Given the description of an element on the screen output the (x, y) to click on. 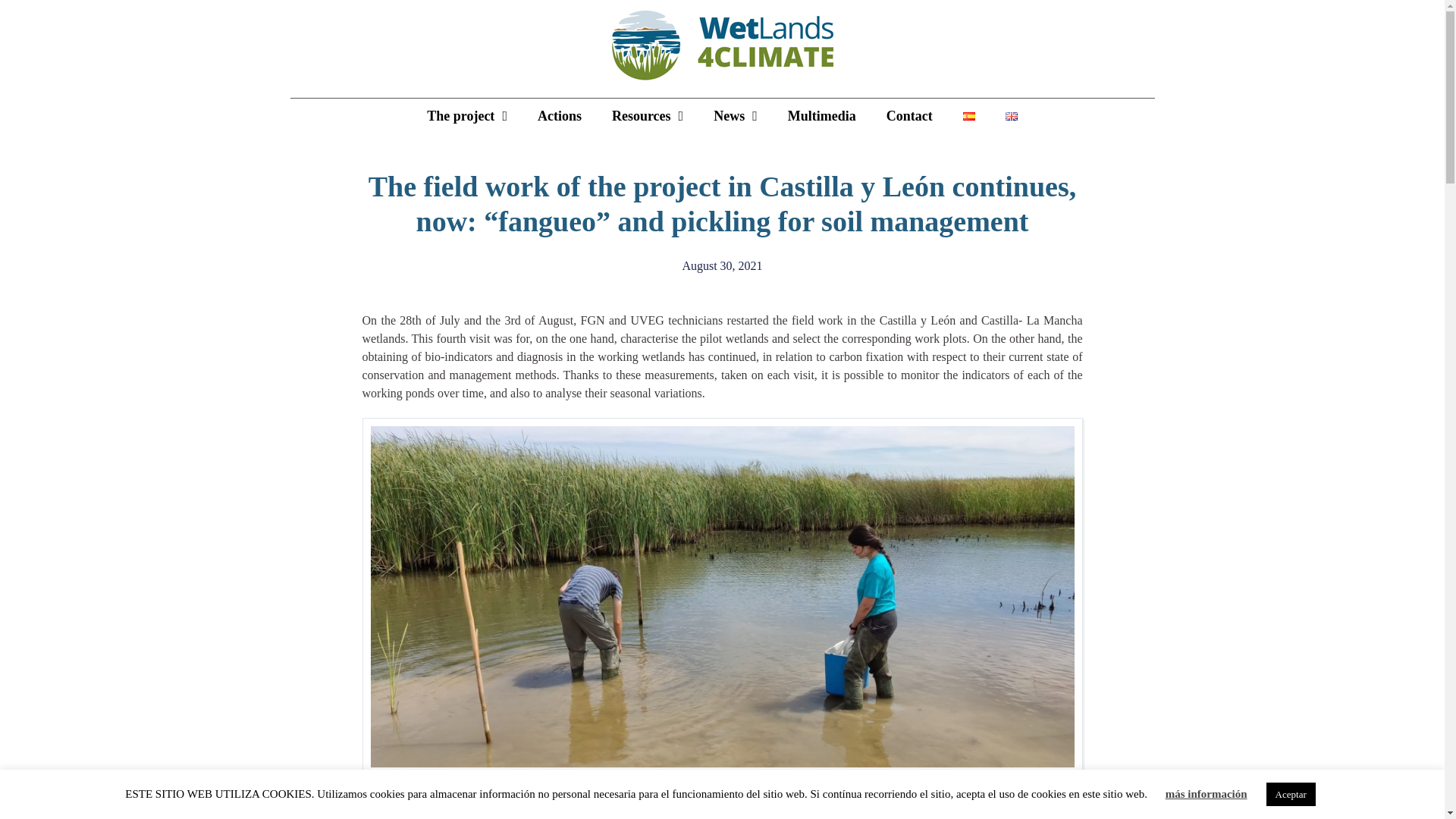
News (735, 115)
Resources (647, 115)
Contact (908, 115)
Multimedia (821, 115)
Actions (559, 115)
The project (467, 115)
